Given the description of an element on the screen output the (x, y) to click on. 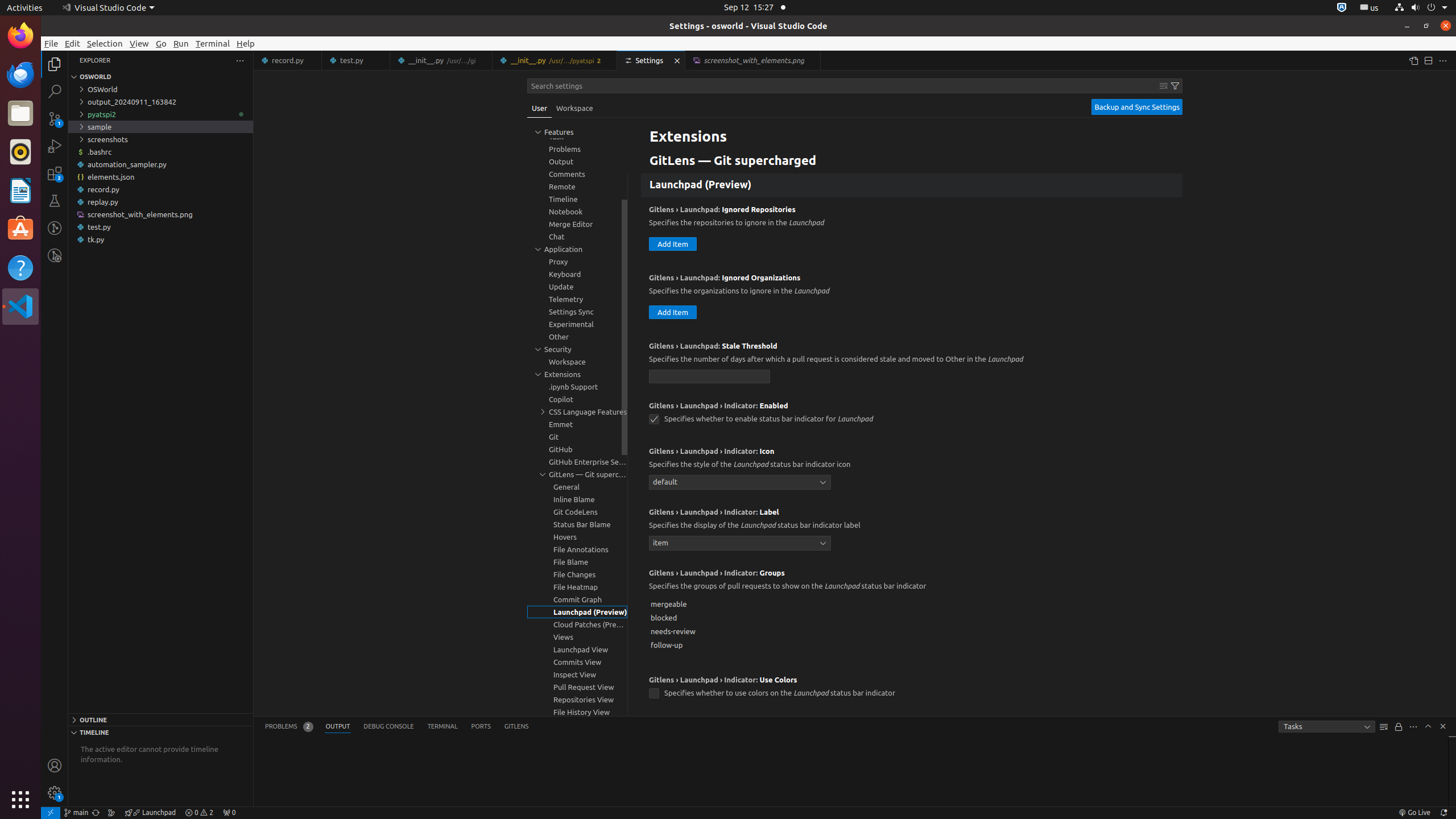
gitlens.launchpad.indicator.enabled Element type: check-box (653, 419)
Workspace Element type: check-box (574, 107)
Launchpad (Preview), group Element type: tree-item (577, 611)
No Ports Forwarded Element type: push-button (228, 812)
